Given the description of an element on the screen output the (x, y) to click on. 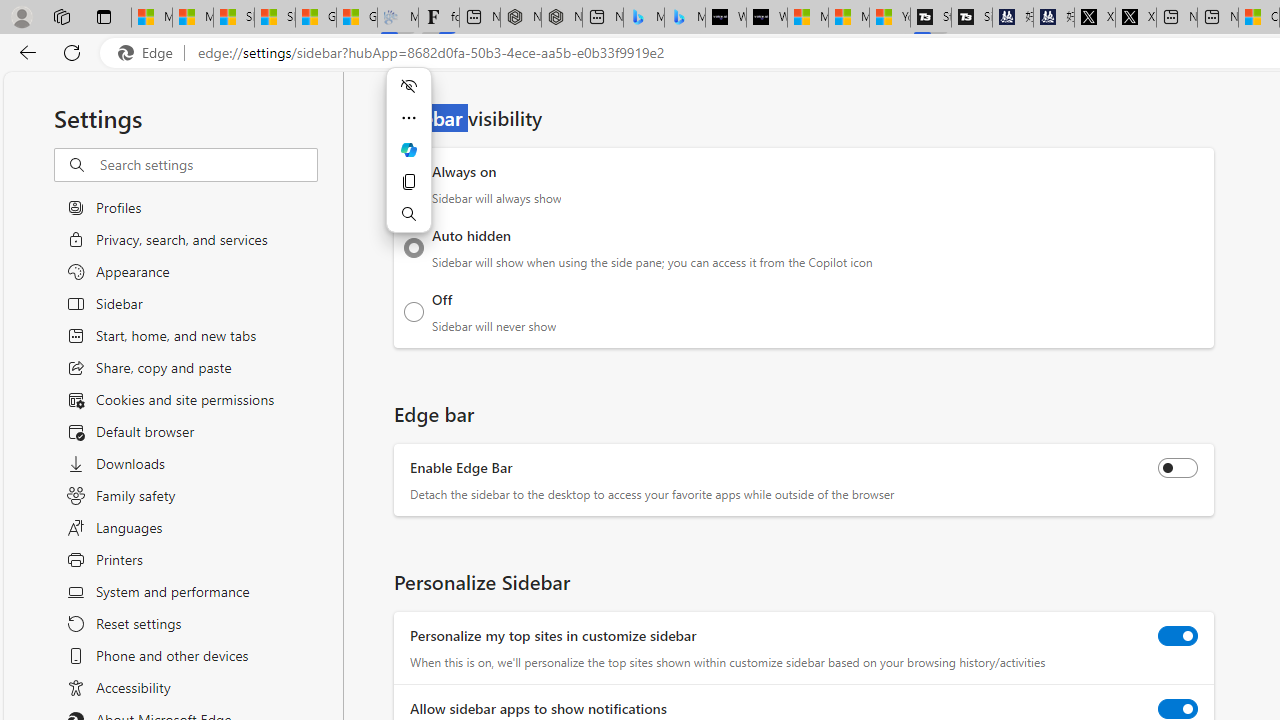
Off Sidebar will never show (413, 311)
Gilma and Hector both pose tropical trouble for Hawaii (356, 17)
Enable Edge Bar (1178, 467)
Mini menu on text selection (408, 161)
Microsoft Bing Travel - Shangri-La Hotel Bangkok (684, 17)
